Given the description of an element on the screen output the (x, y) to click on. 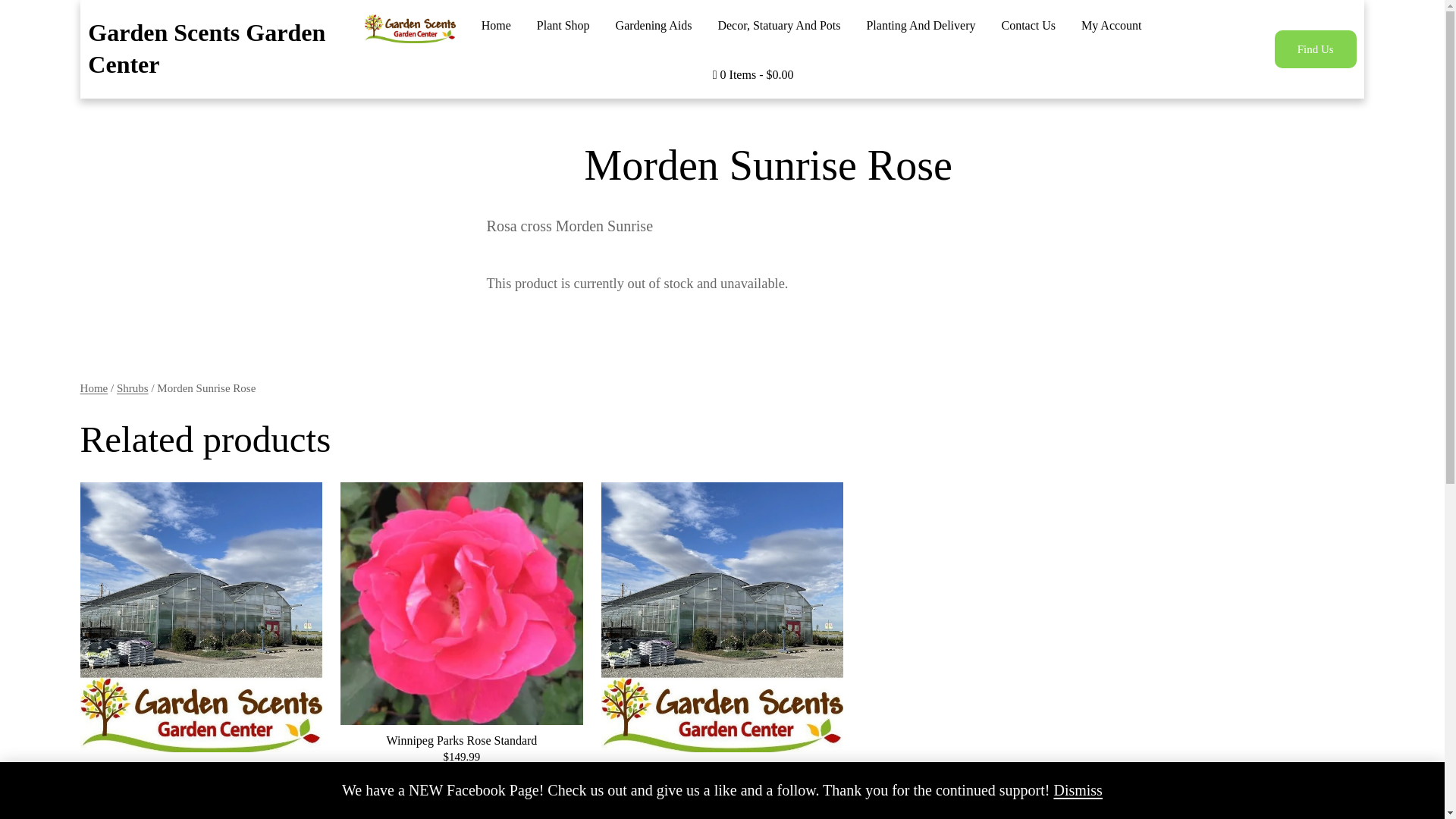
Winnipeg Parks Rose Standard (461, 740)
Shrubs (132, 387)
Find Us (1315, 48)
Gardening Aids (654, 25)
Decor, Statuary And Pots (778, 25)
Garden Scents Garden Center (205, 47)
Home (496, 25)
Select options (461, 812)
My Account (1111, 25)
Start shopping (753, 74)
Home (93, 387)
Contact Us (1028, 25)
Goji Berry (200, 767)
Plant Shop (563, 25)
Planting And Delivery (920, 25)
